Given the description of an element on the screen output the (x, y) to click on. 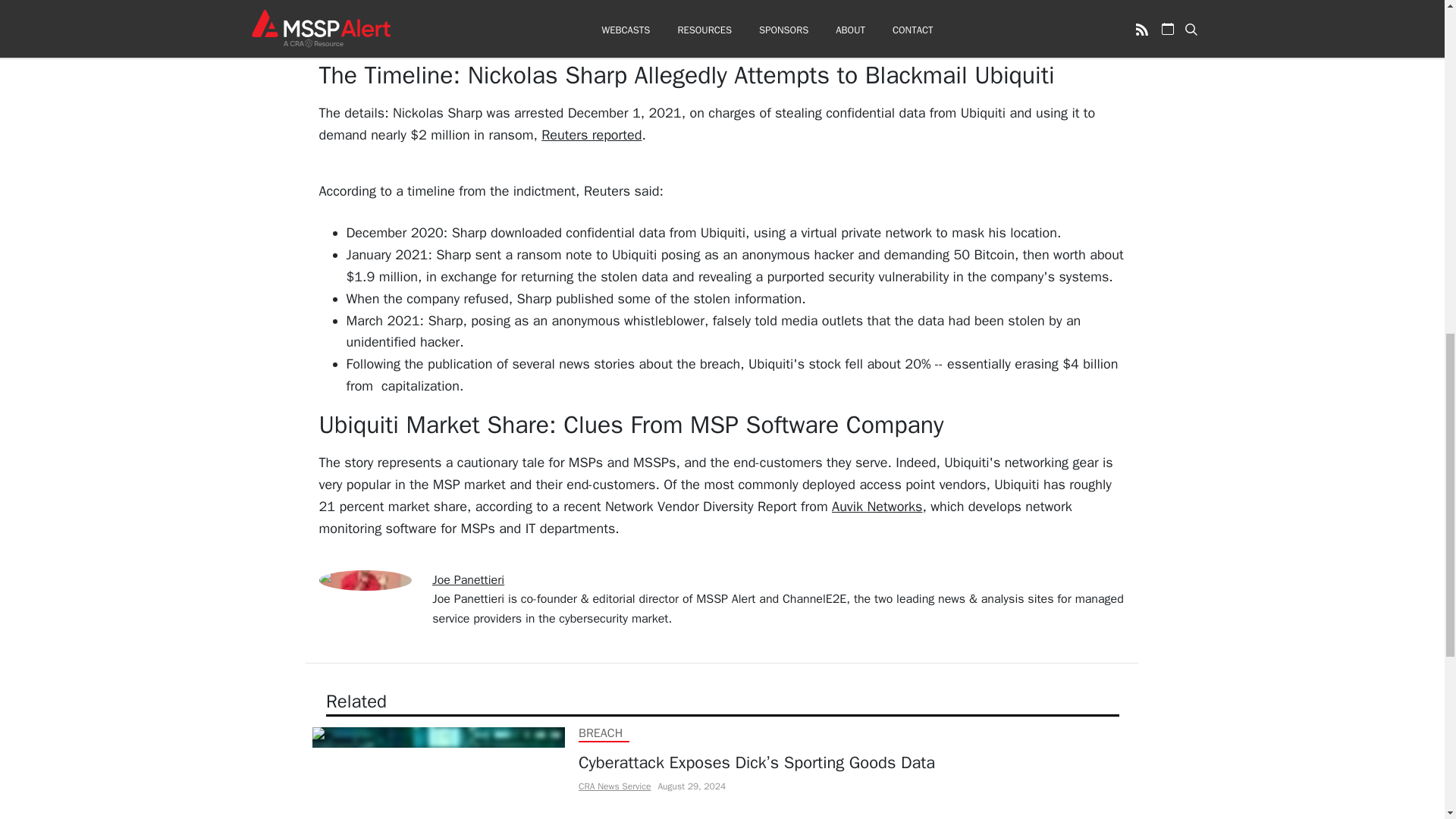
BREACH (599, 817)
Auvik Networks (876, 506)
BREACH (599, 732)
CRA News Service (613, 786)
Joe Panettieri (467, 580)
Reuters reported (591, 134)
KrebsOnSecurity (908, 29)
